Given the description of an element on the screen output the (x, y) to click on. 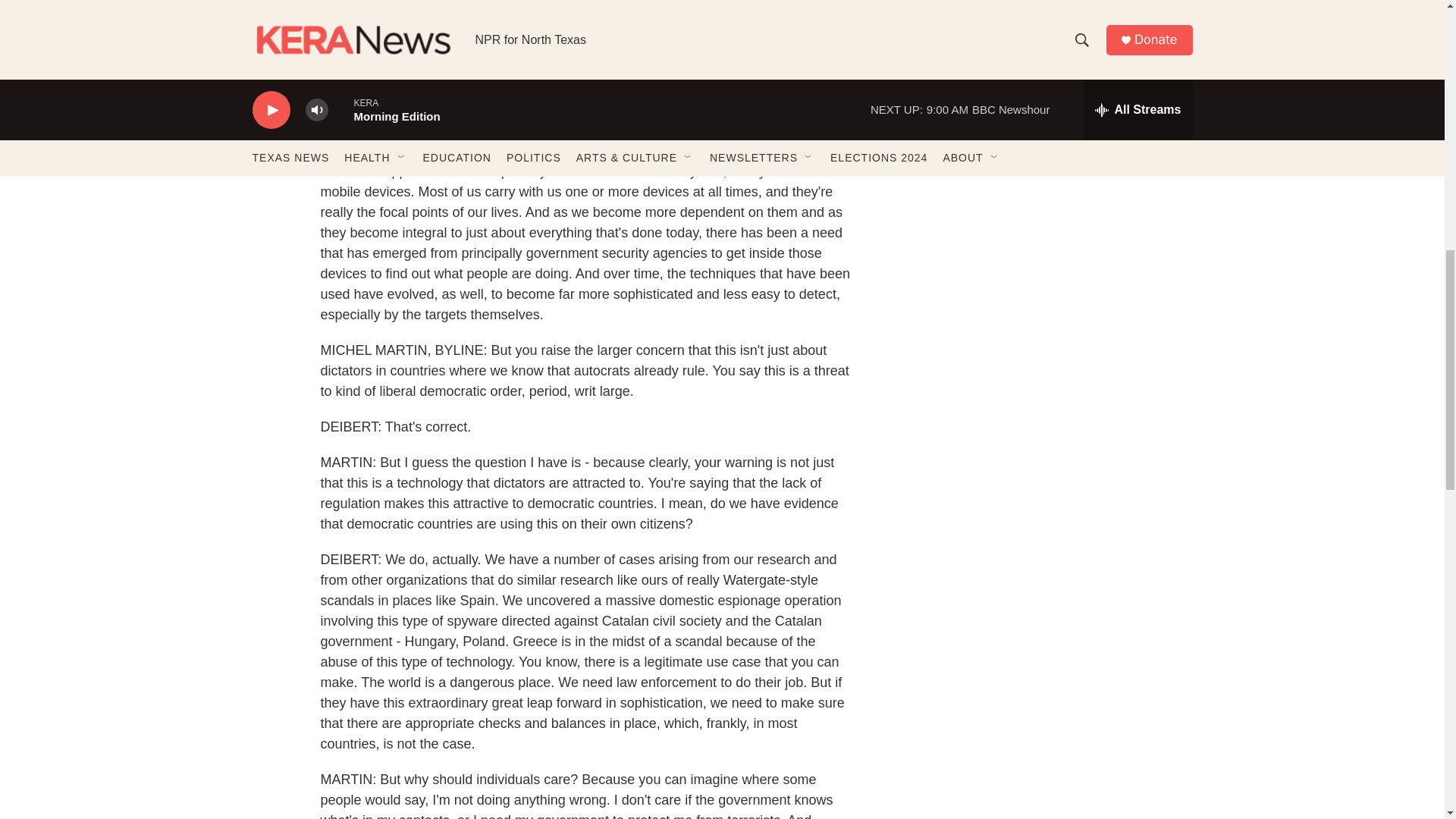
3rd party ad content (1062, 341)
3rd party ad content (1062, 122)
